Given the description of an element on the screen output the (x, y) to click on. 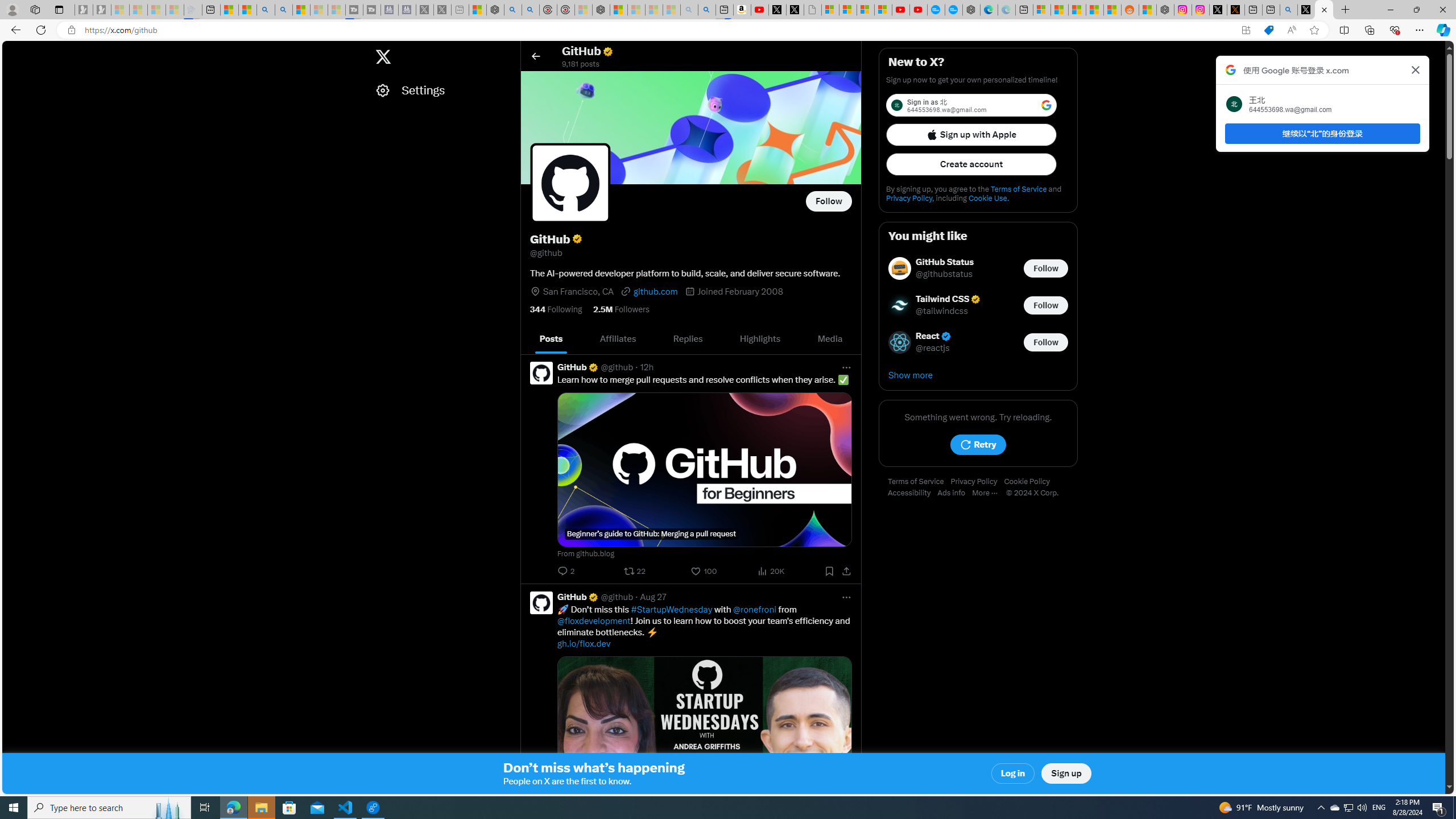
Nordace - Nordace has arrived Hong Kong (971, 9)
@ronefroni (755, 609)
X - Sleeping (442, 9)
Square profile picture (540, 602)
Square profile picture and Opens profile photo (569, 182)
